Given the description of an element on the screen output the (x, y) to click on. 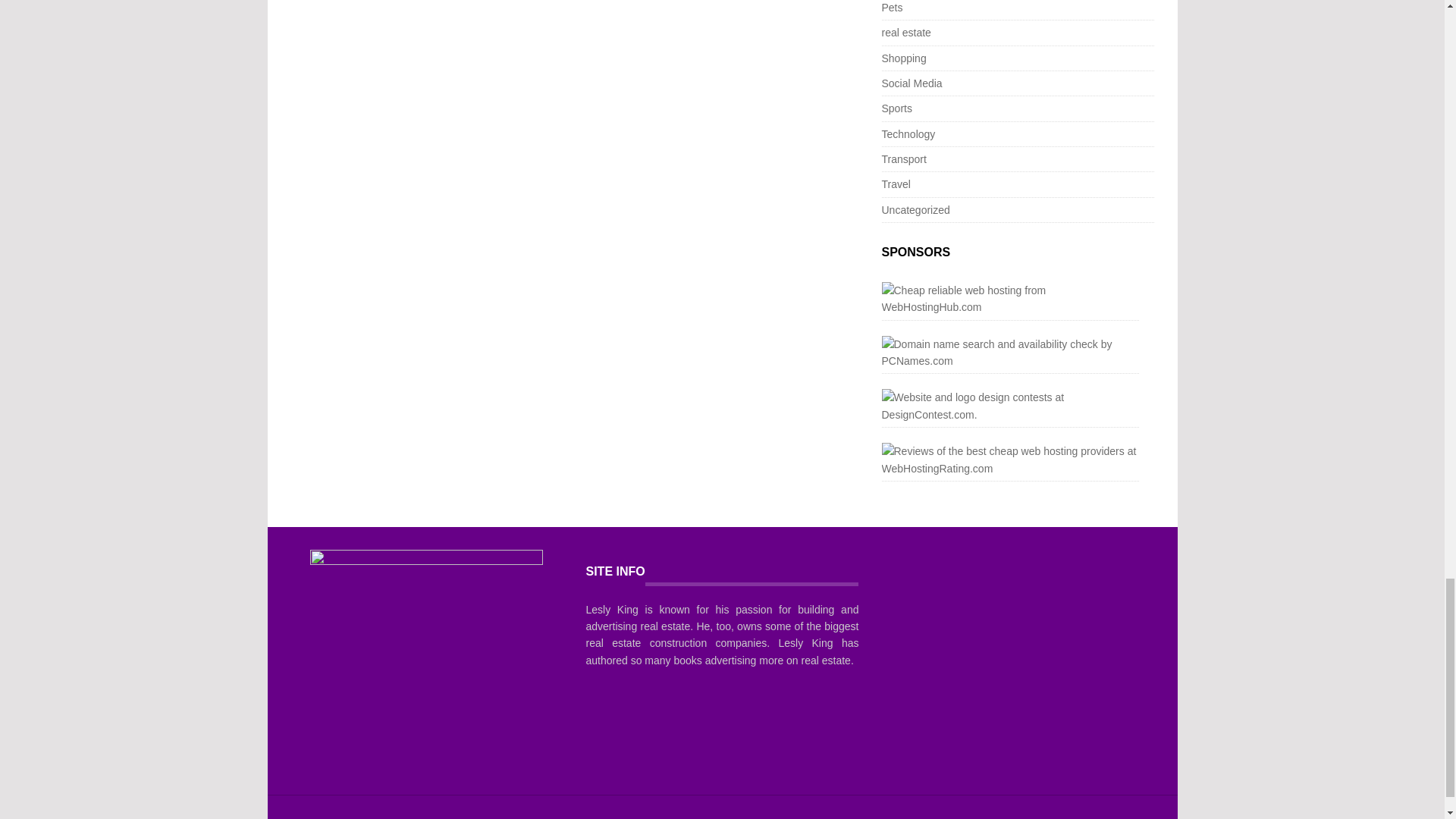
Design Contest - Logo and website design contests. (1009, 406)
Web Hosting Hub - Cheap reliable web hosting. (1009, 298)
Web Hosting Rating - Customer reviews of the best web hosts (1009, 459)
PC Names - Domain name search and availability check. (1009, 352)
